Given the description of an element on the screen output the (x, y) to click on. 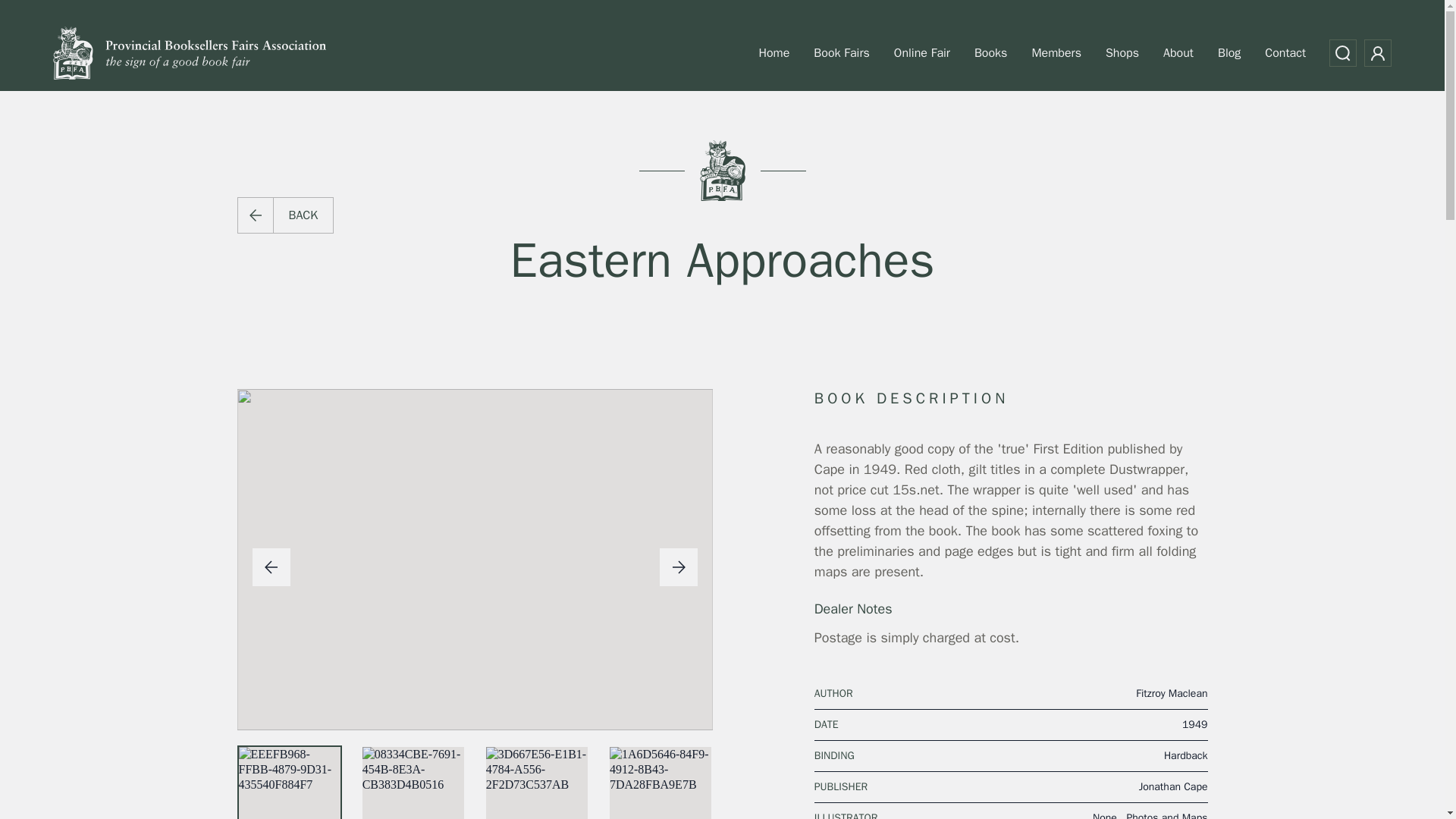
Shops (1122, 52)
Home Page (189, 52)
Online Fair (921, 52)
Blog (1229, 52)
Back to all books (284, 215)
Contact (1285, 52)
BACK (284, 215)
Members (1056, 52)
Home (773, 52)
About (1178, 52)
Books (990, 52)
Book Fairs (841, 52)
